Given the description of an element on the screen output the (x, y) to click on. 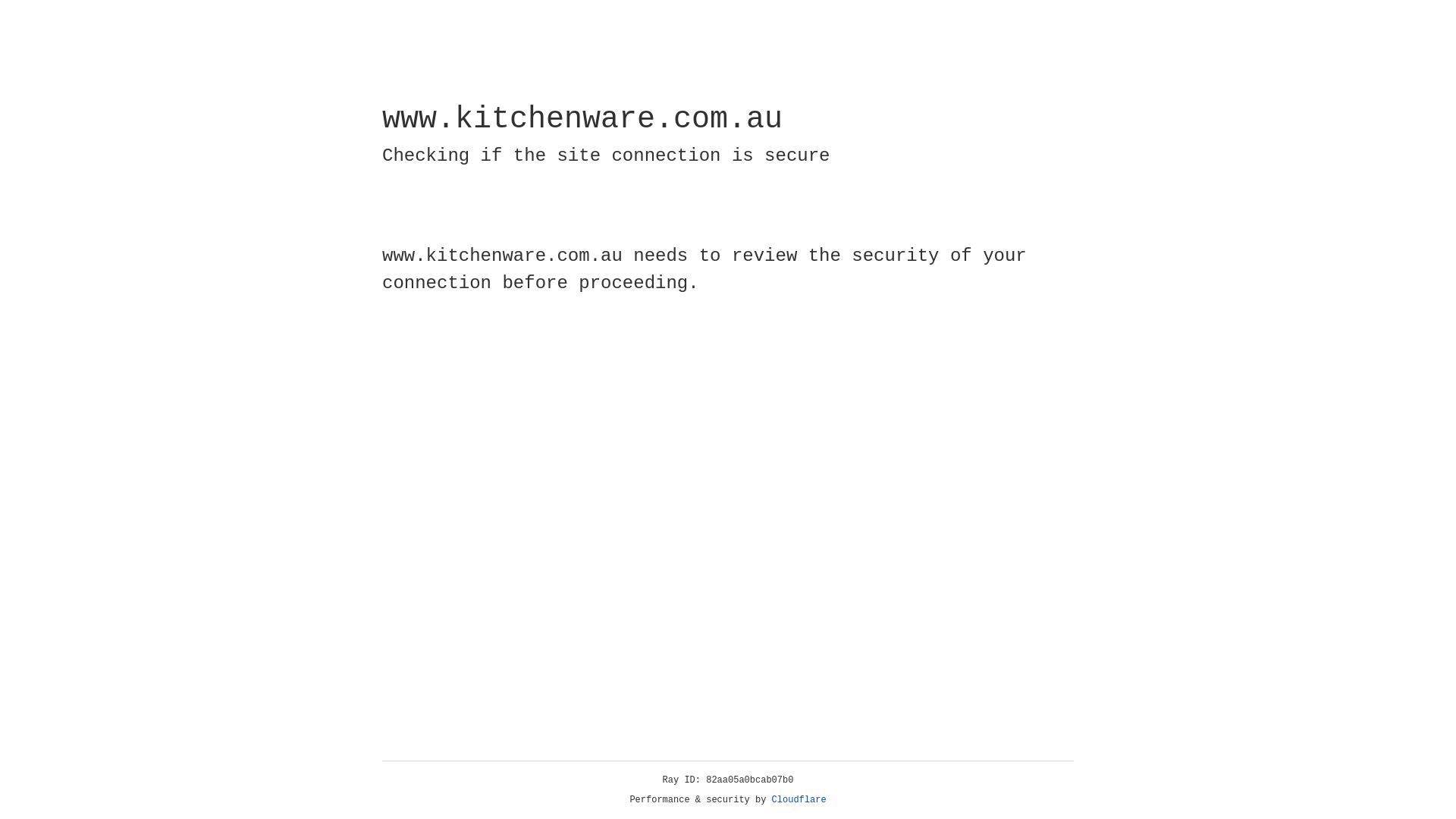
Cloudflare Element type: text (798, 799)
